Given the description of an element on the screen output the (x, y) to click on. 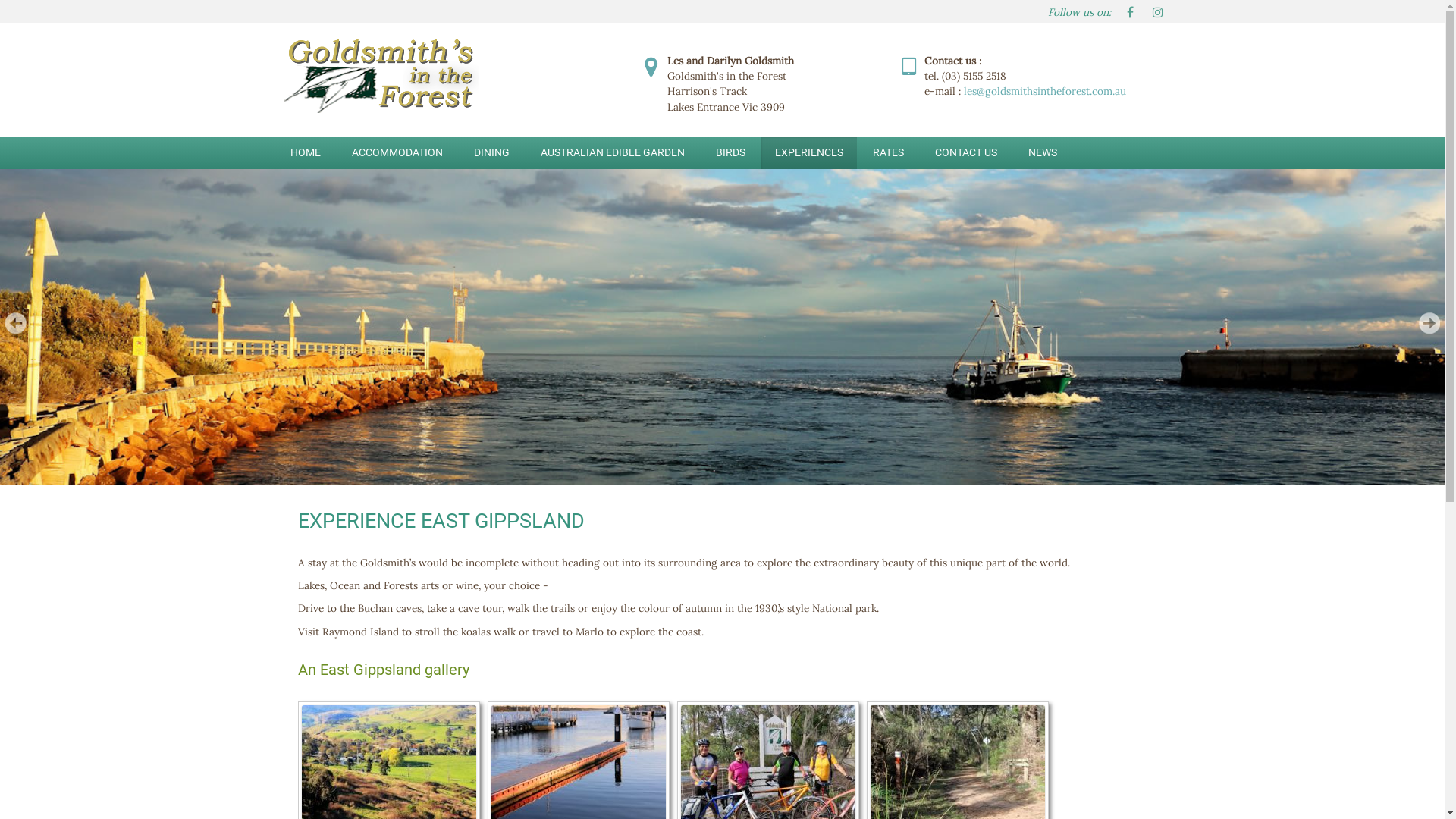
AUSTRALIAN EDIBLE GARDEN Element type: text (611, 152)
les@goldsmithsintheforest.com.au Element type: text (1044, 90)
NEWS Element type: text (1042, 152)
> Element type: text (1429, 322)
BIRDS Element type: text (730, 152)
RATES Element type: text (887, 152)
Instagram Element type: hover (1157, 10)
< Element type: text (14, 322)
CONTACT US Element type: text (965, 152)
HOME Element type: text (304, 152)
Facebook Element type: hover (1129, 10)
DINING Element type: text (491, 152)
ACCOMMODATION Element type: text (397, 152)
